Given the description of an element on the screen output the (x, y) to click on. 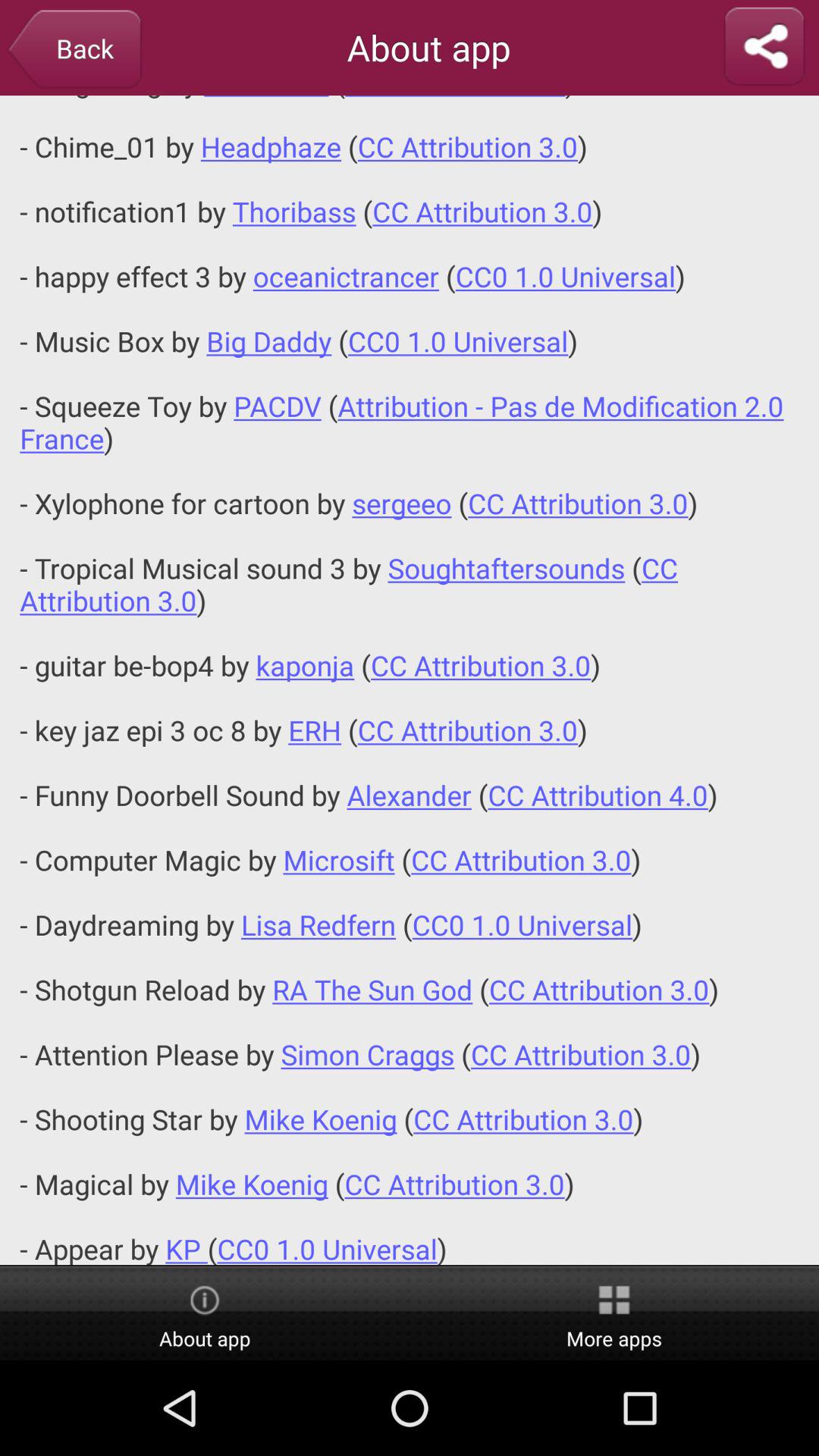
turn off icon to the left of the about app (73, 50)
